Given the description of an element on the screen output the (x, y) to click on. 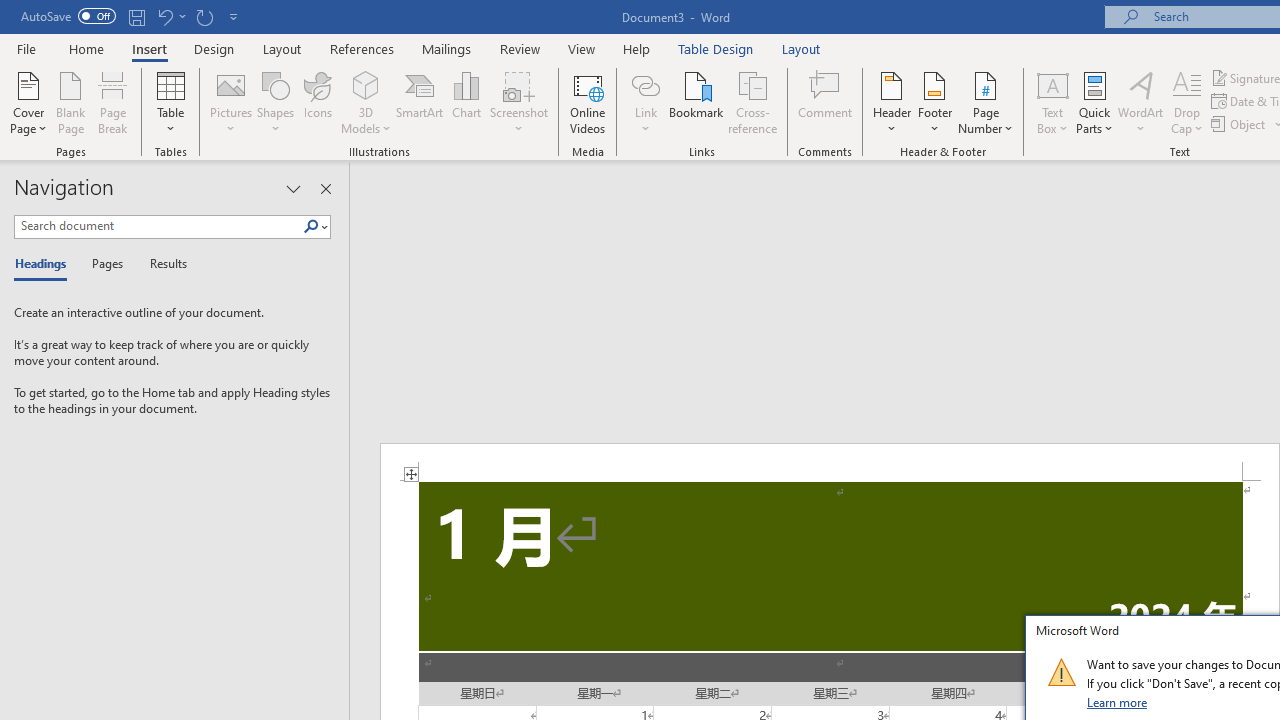
Chart... (466, 102)
Page Number (986, 102)
Footer (934, 102)
Link (645, 102)
Text Box (1052, 102)
Bookmark... (695, 102)
Icons (317, 102)
SmartArt... (419, 102)
Page Break (113, 102)
Pictures (230, 102)
Learn more (1118, 702)
